Given the description of an element on the screen output the (x, y) to click on. 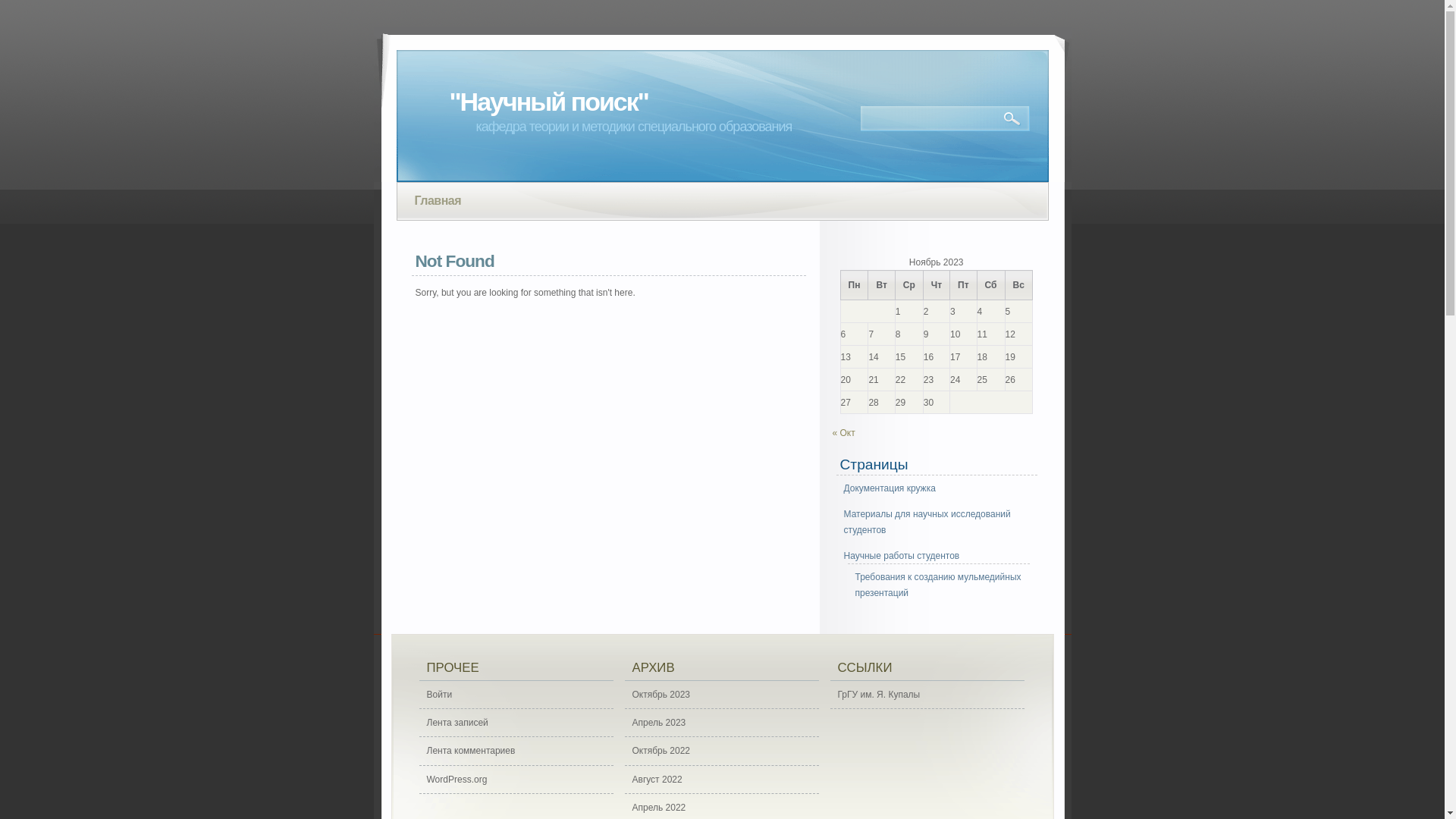
WordPress.org Element type: text (515, 779)
